Given the description of an element on the screen output the (x, y) to click on. 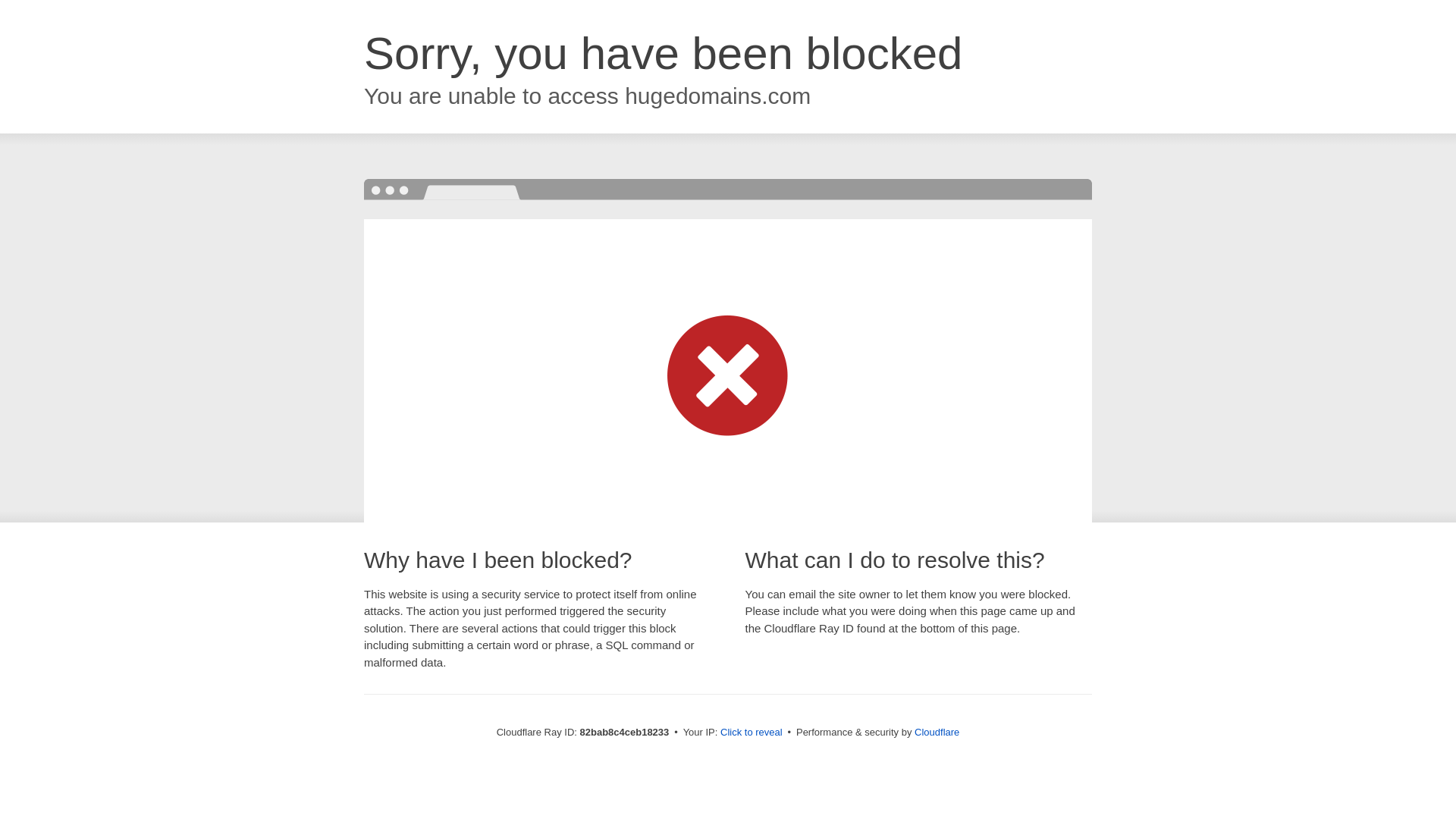
Click to reveal Element type: text (751, 732)
Cloudflare Element type: text (936, 731)
